Given the description of an element on the screen output the (x, y) to click on. 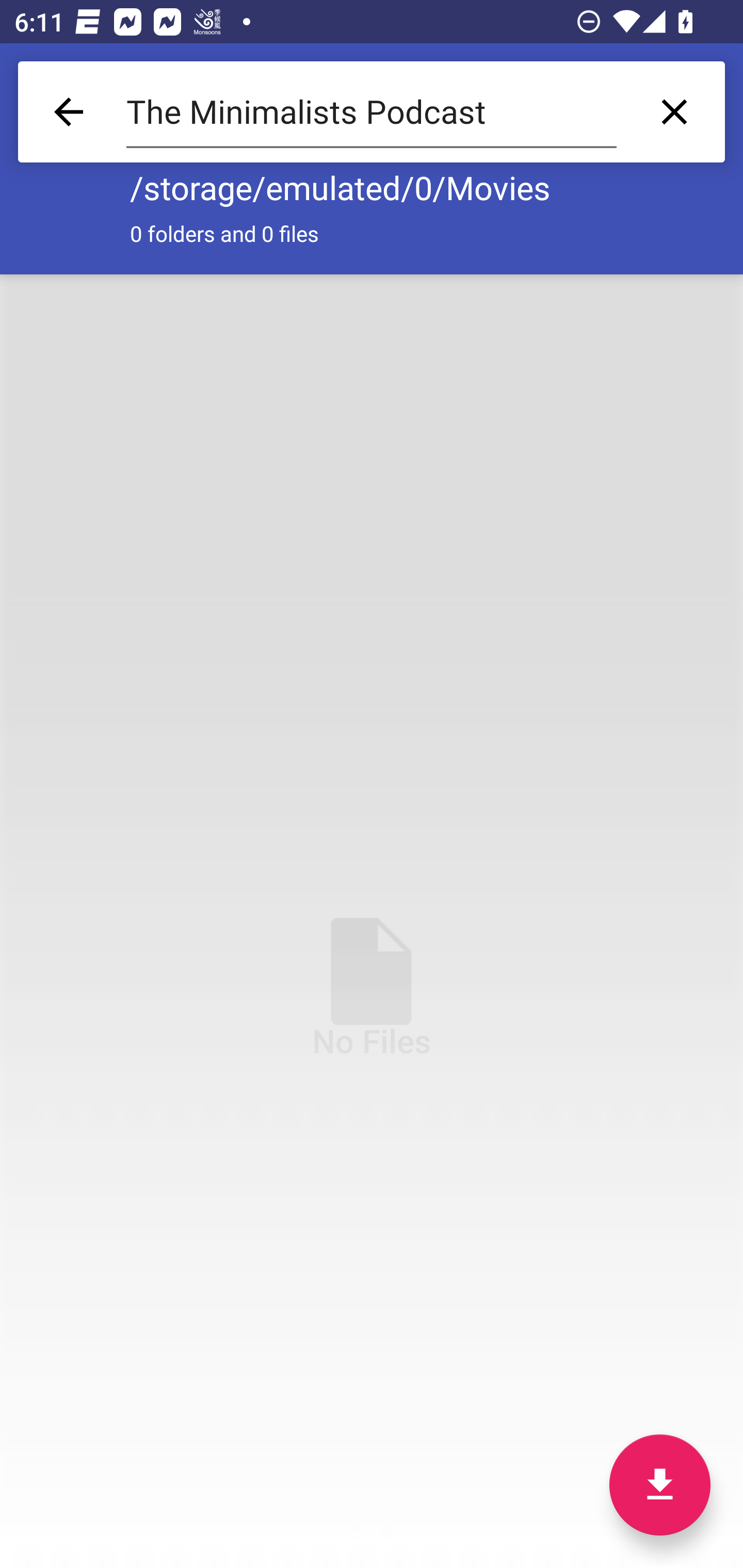
The Minimalists Podcast (371, 112)
